Given the description of an element on the screen output the (x, y) to click on. 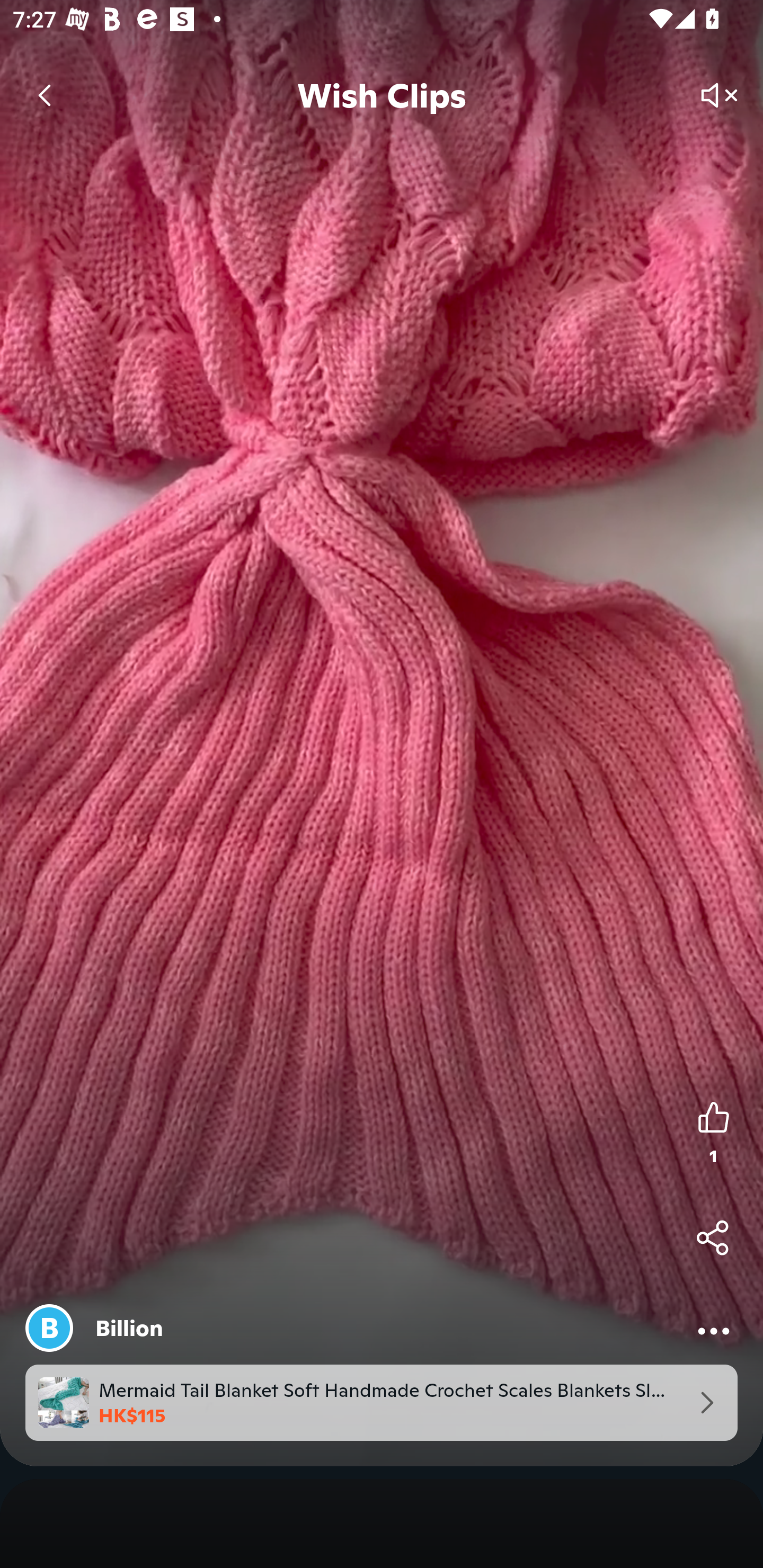
B (49, 1327)
Billion (129, 1327)
